Given the description of an element on the screen output the (x, y) to click on. 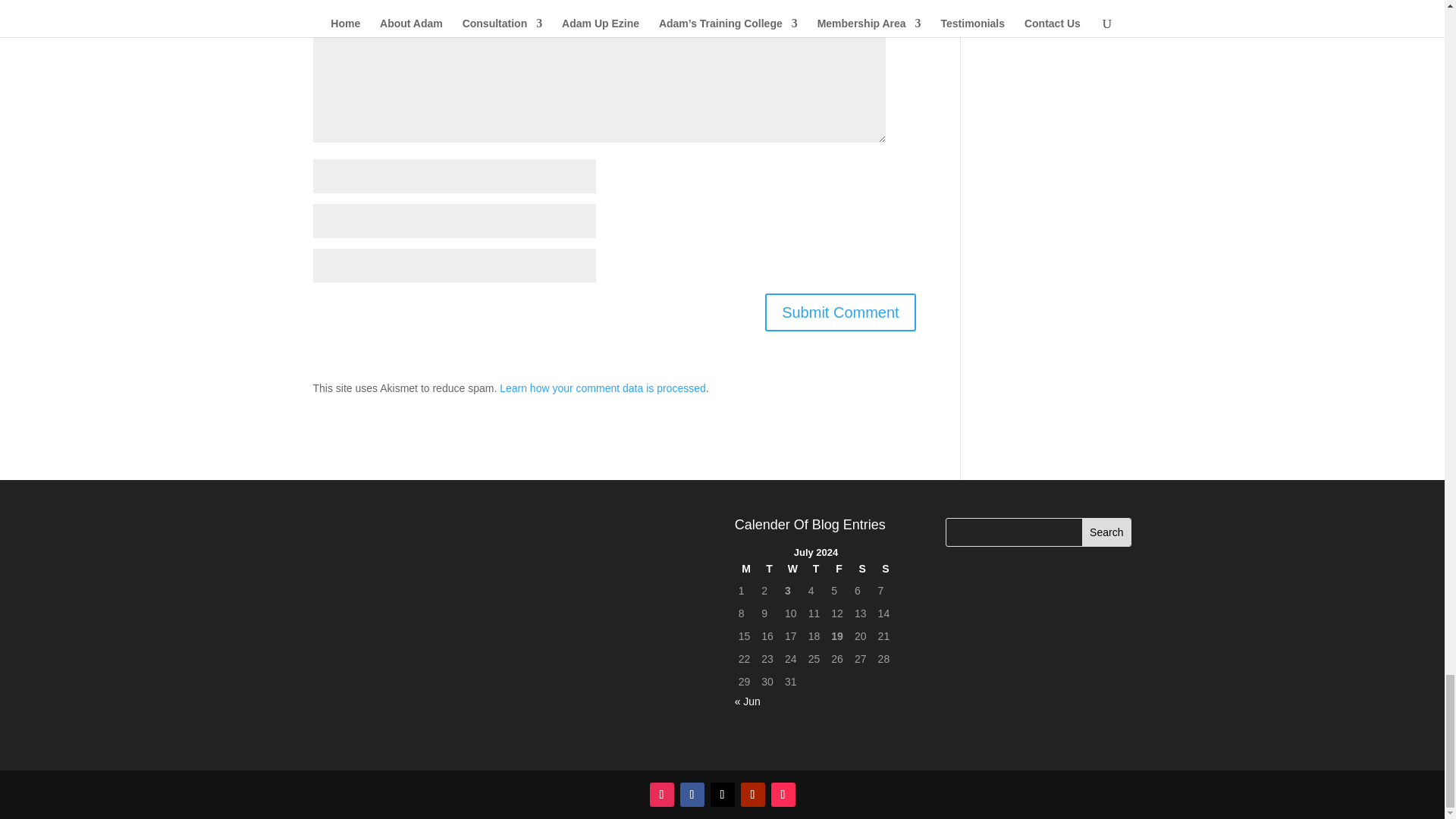
Search (1106, 532)
Search (1106, 532)
Submit Comment (840, 312)
